Given the description of an element on the screen output the (x, y) to click on. 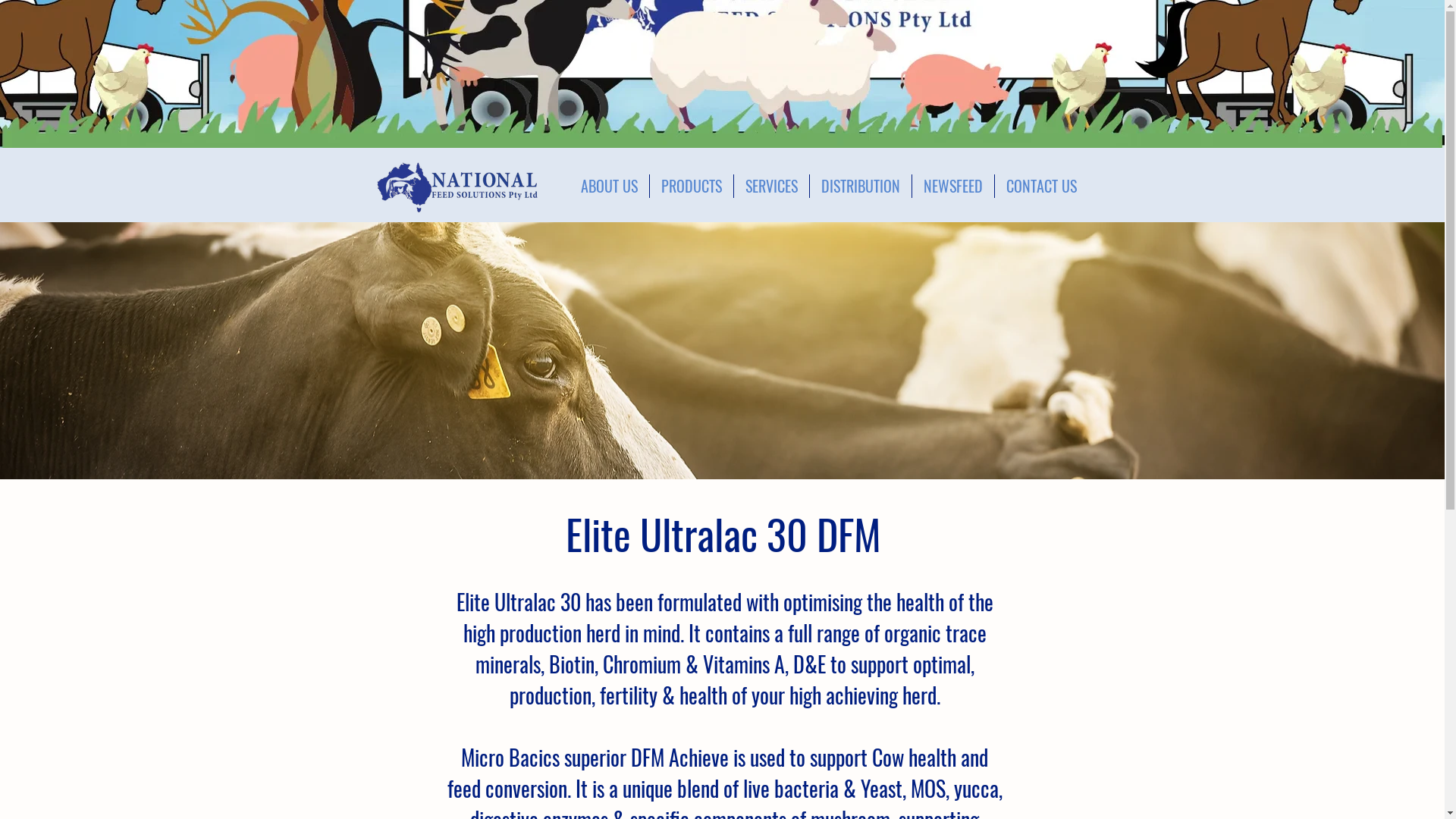
SERVICES Element type: text (771, 185)
DISTRIBUTION Element type: text (860, 185)
NEWSFEED Element type: text (953, 185)
CONTACT US Element type: text (1041, 185)
ABOUT US Element type: text (609, 185)
PRODUCTS Element type: text (691, 185)
